Given the description of an element on the screen output the (x, y) to click on. 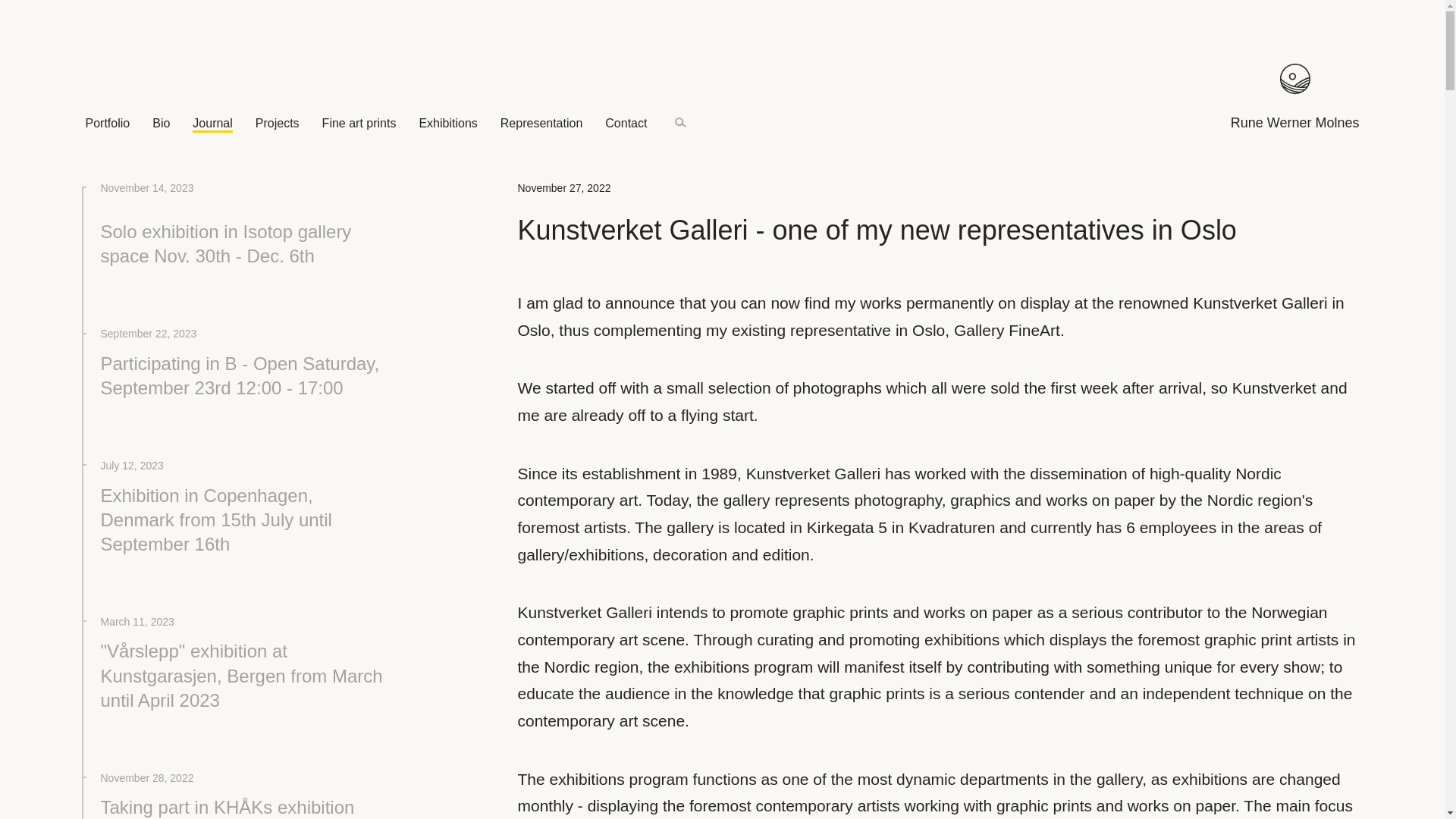
Fine art prints (358, 123)
Bio (161, 123)
Portfolio (106, 123)
Journal (211, 124)
Journal (211, 124)
Rune Werner Molnes (1294, 98)
Exhibitions (448, 123)
Projects (277, 123)
Representation (541, 123)
Portfolios (106, 123)
Contact (625, 123)
Exhibitions (448, 123)
Contact (625, 123)
